Given the description of an element on the screen output the (x, y) to click on. 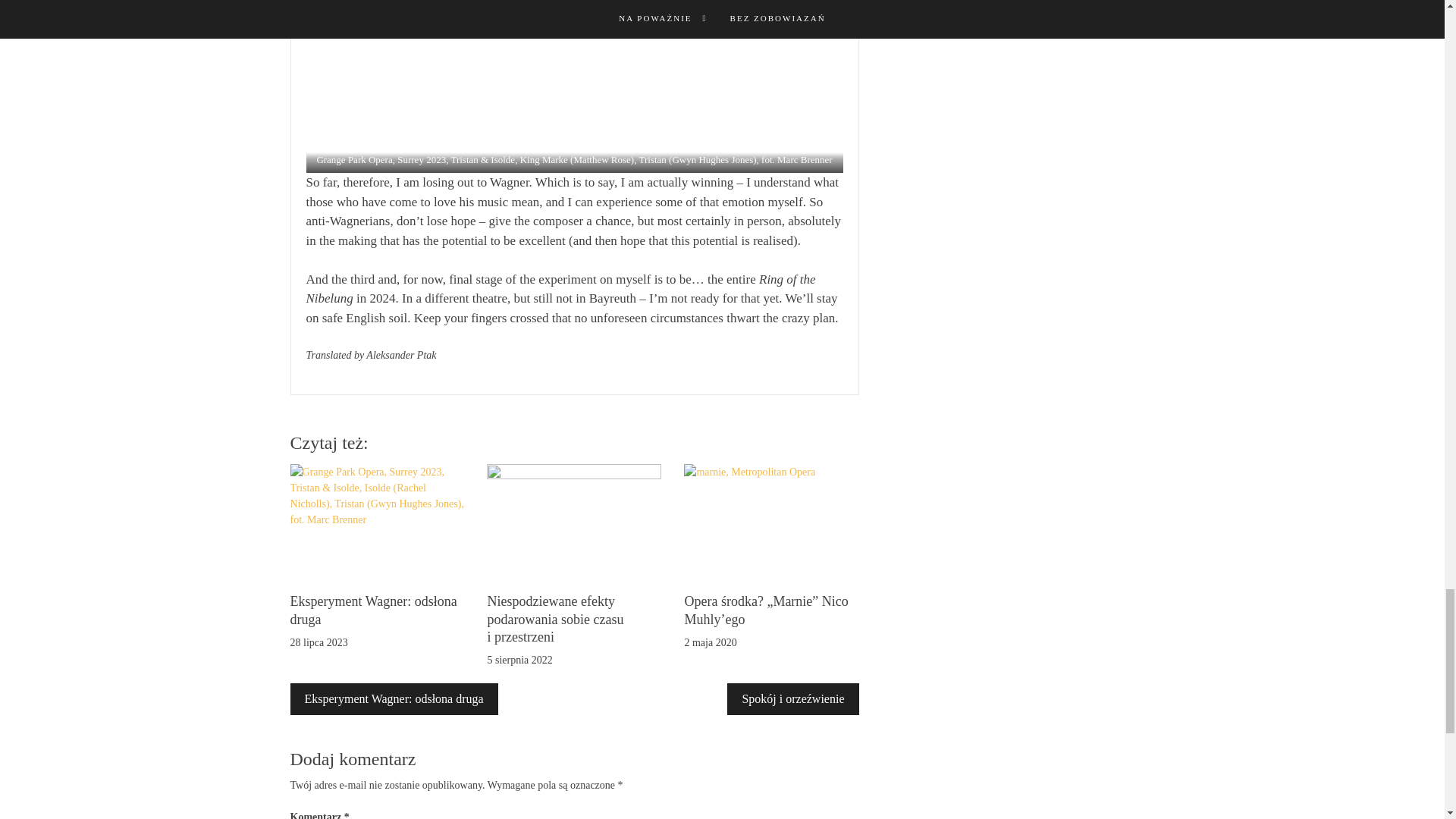
Niespodziewane efekty podarowania sobie czasu i przestrzeni (554, 618)
